Given the description of an element on the screen output the (x, y) to click on. 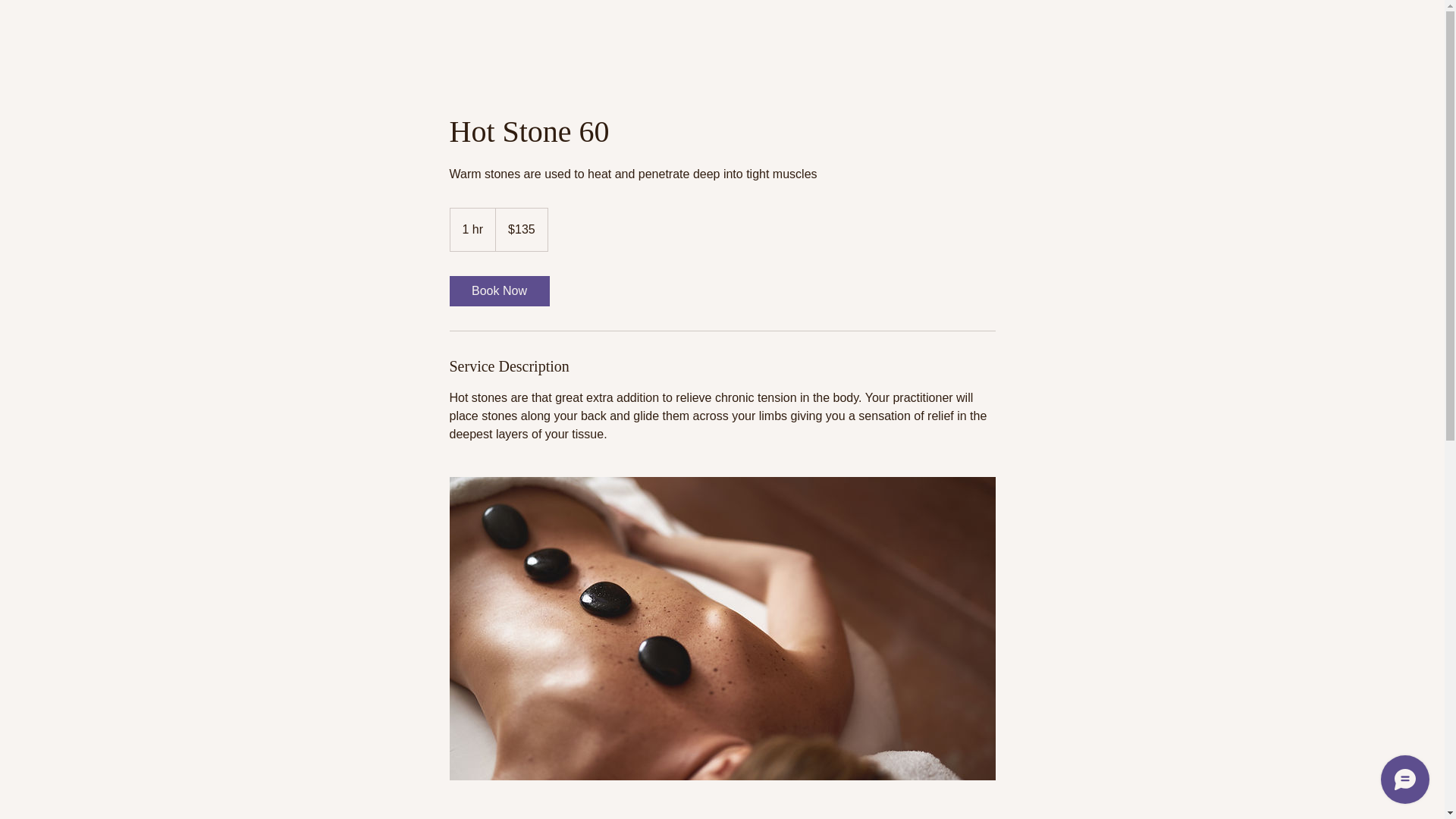
Book Now (498, 291)
